Given the description of an element on the screen output the (x, y) to click on. 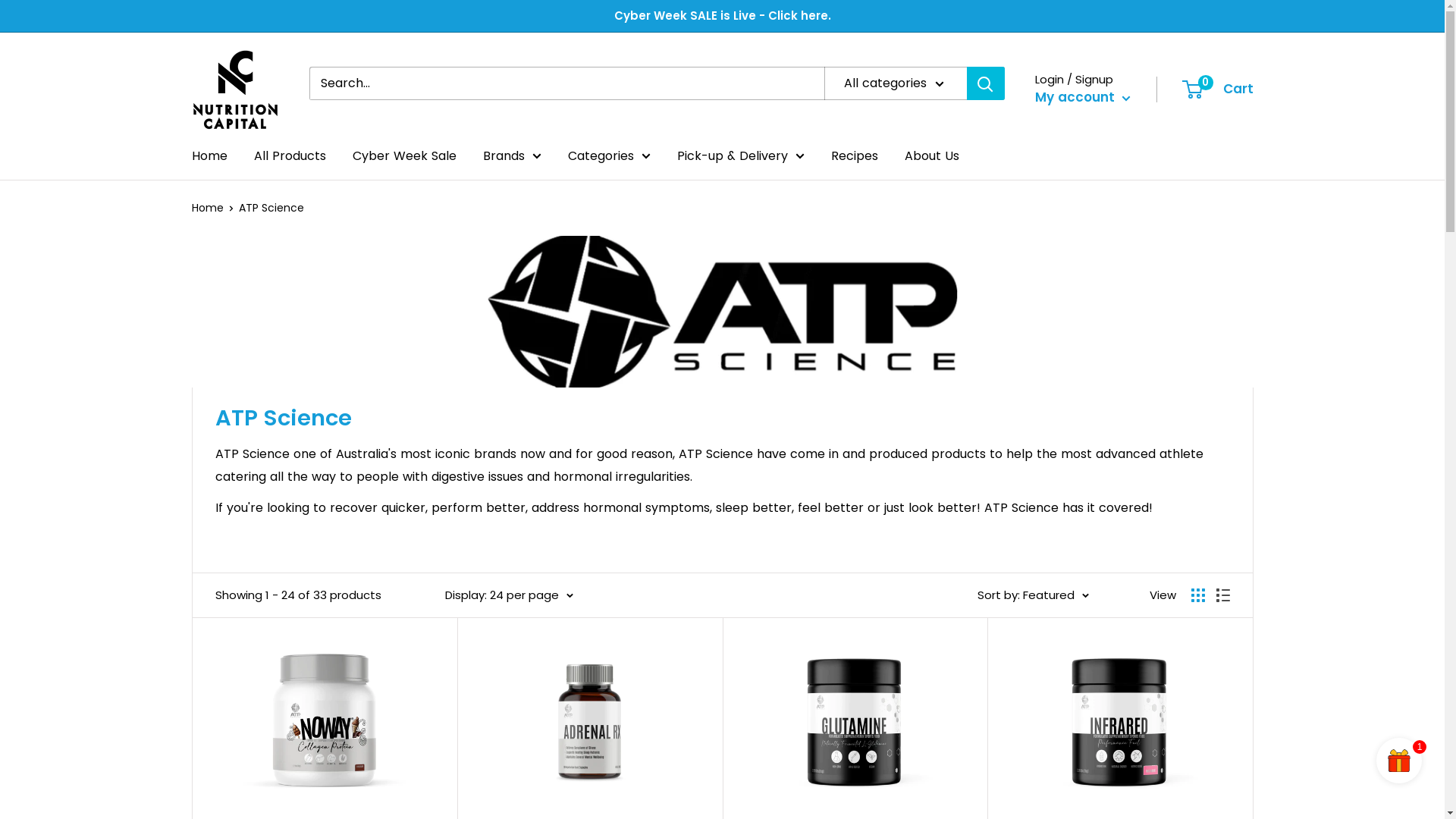
All Products Element type: text (289, 155)
Pick-up & Delivery Element type: text (739, 155)
My account Element type: text (1081, 97)
Cyber Week SALE is Live - Click here. Element type: text (722, 15)
Sort by: Featured Element type: text (1032, 594)
Recipes Element type: text (854, 155)
Cyber Week Sale Element type: text (403, 155)
0
Cart Element type: text (1217, 89)
Home Element type: text (208, 155)
Home Element type: text (206, 207)
Brands Element type: text (511, 155)
About Us Element type: text (930, 155)
Categories Element type: text (608, 155)
Display: 24 per page Element type: text (508, 594)
